Given the description of an element on the screen output the (x, y) to click on. 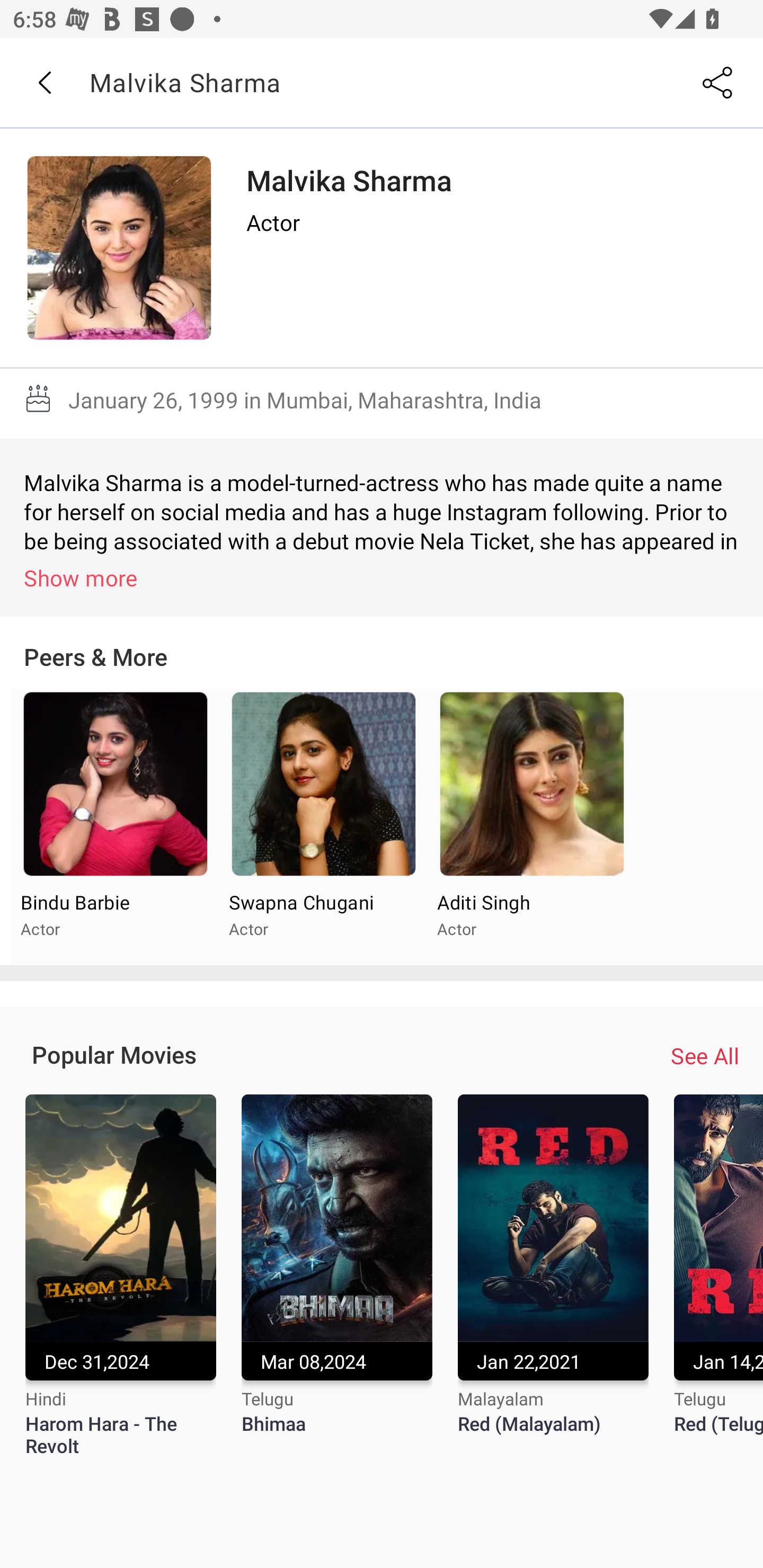
Back (44, 82)
Show more (384, 577)
Bindu Barbie Actor (115, 826)
Swapna Chugani Actor (323, 826)
Aditi Singh Actor (531, 826)
See All (704, 1055)
Dec 31,2024 Hindi Harom Hara - The Revolt (120, 1276)
Mar 08,2024 Telugu Bhimaa (336, 1276)
Jan 22,2021 Malayalam Red (Malayalam) (552, 1276)
